Given the description of an element on the screen output the (x, y) to click on. 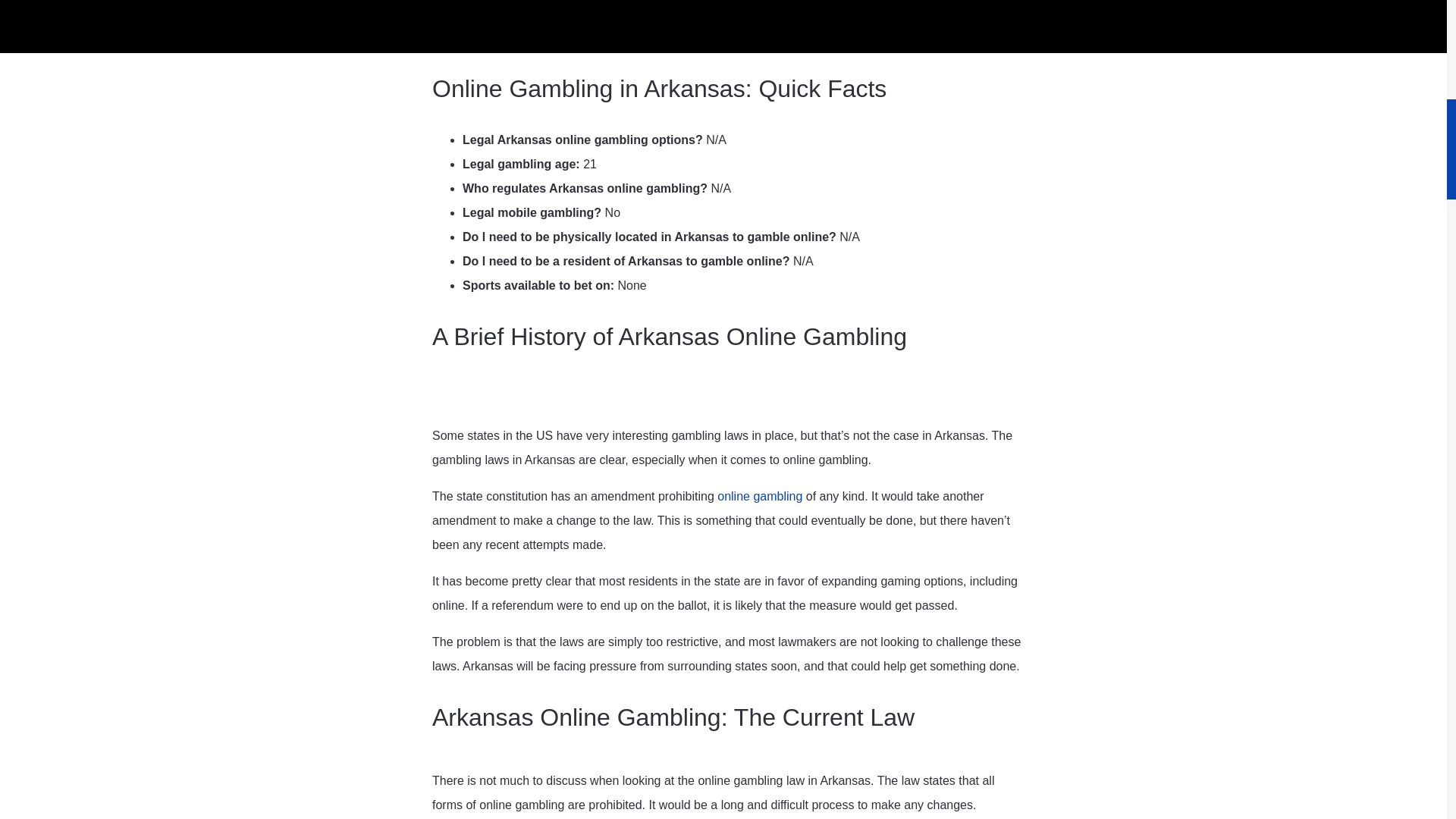
online gambling (761, 495)
